Given the description of an element on the screen output the (x, y) to click on. 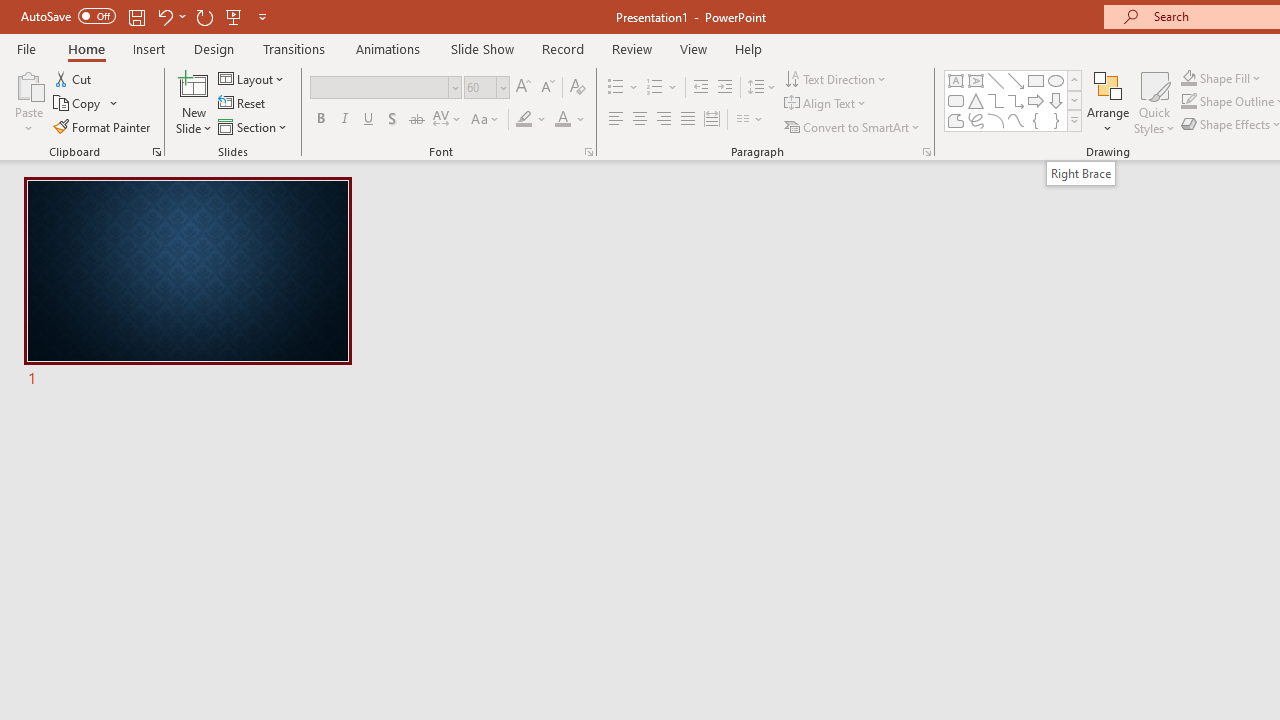
Section (254, 126)
Distributed (712, 119)
Font... (588, 151)
